Given the description of an element on the screen output the (x, y) to click on. 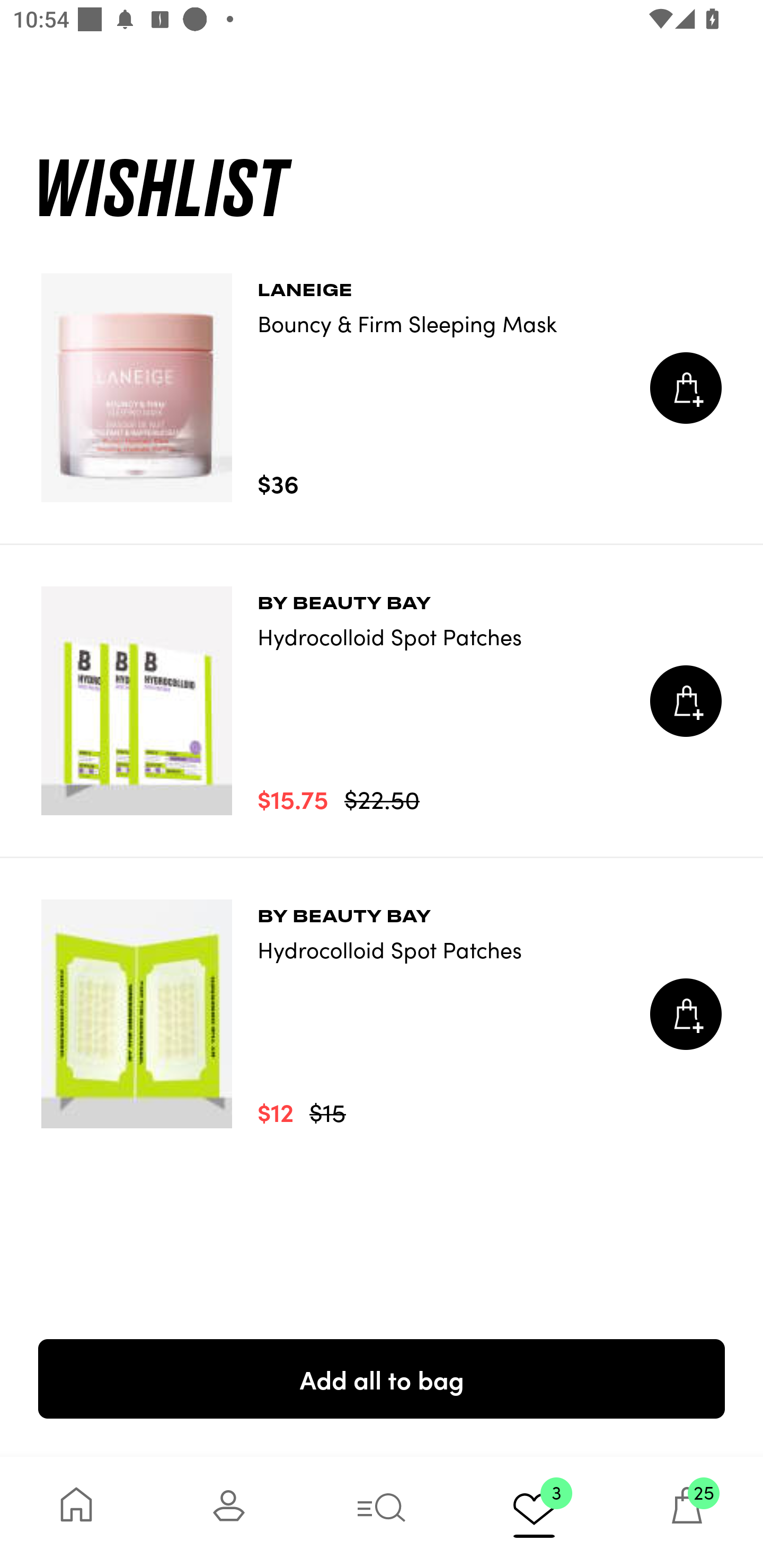
LANEIGE Bouncy & Firm Sleeping Mask $36 (381, 388)
BY BEAUTY BAY Hydrocolloid Spot Patches $12 $15 (381, 1013)
Add all to bag (381, 1379)
3 (533, 1512)
25 (686, 1512)
